Given the description of an element on the screen output the (x, y) to click on. 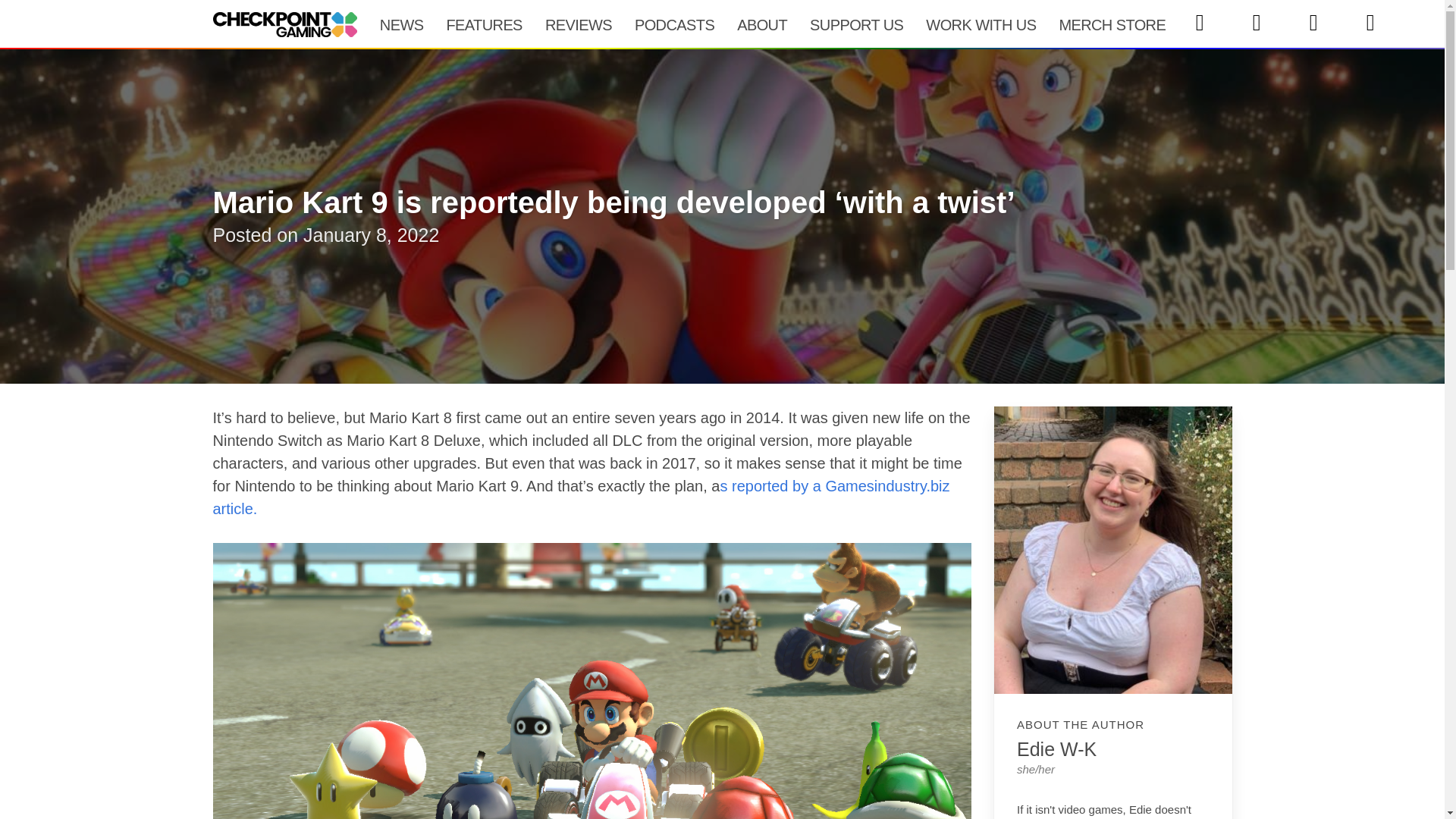
PODCASTS (674, 24)
FEATURES (482, 24)
NEWS (401, 24)
MERCH STORE (1111, 24)
ABOUT (761, 24)
REVIEWS (578, 24)
WORK WITH US (980, 24)
SUPPORT US (855, 24)
s reported by a Gamesindustry.biz article. (580, 496)
